Given the description of an element on the screen output the (x, y) to click on. 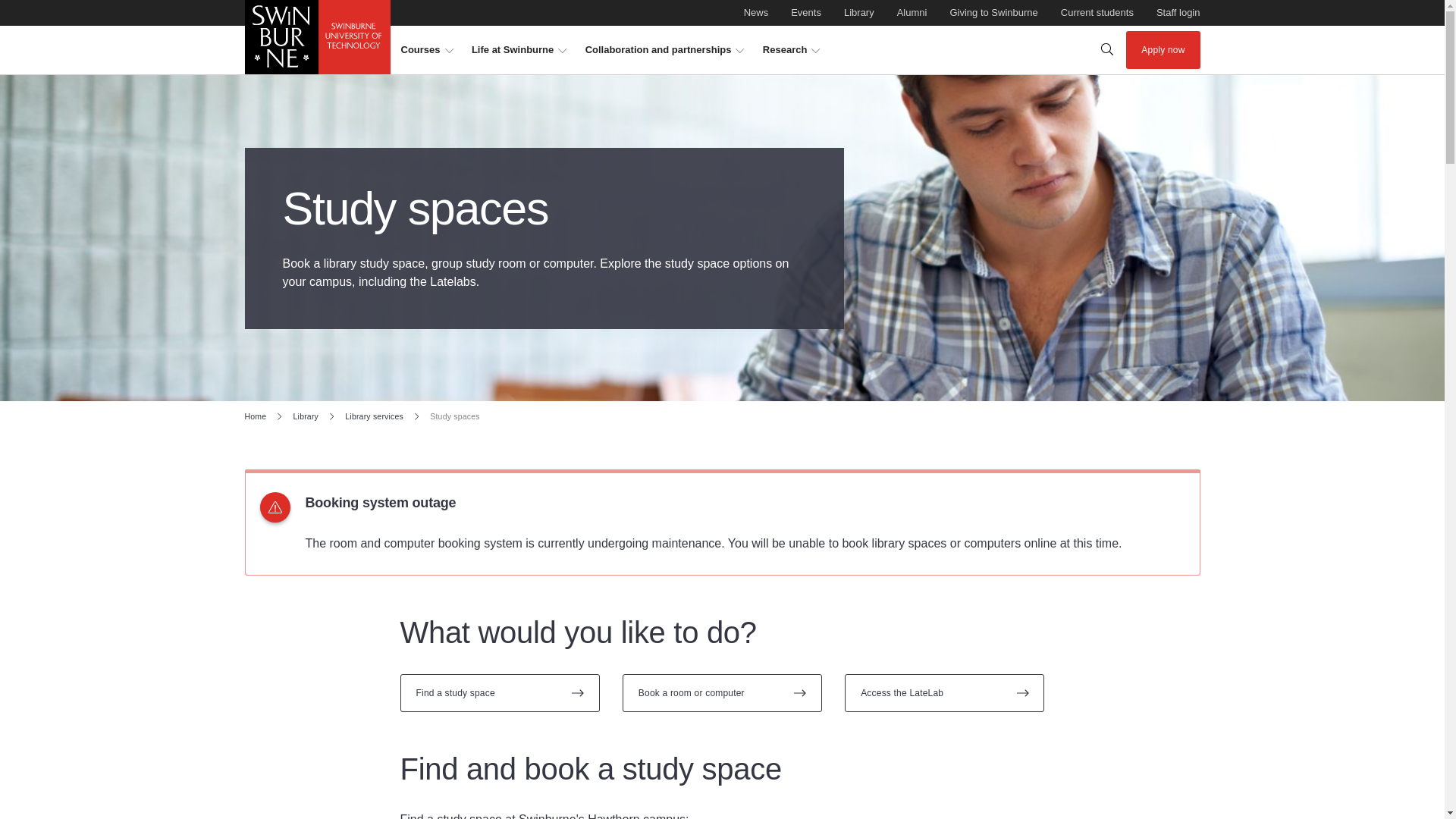
Giving to Swinburne (992, 13)
Events (426, 49)
Staff login (805, 13)
Skip to search (1177, 13)
News (721, 7)
Giving to Swinburne (756, 13)
toggle Courses menu (992, 13)
Events (426, 49)
Current students (805, 13)
